Given the description of an element on the screen output the (x, y) to click on. 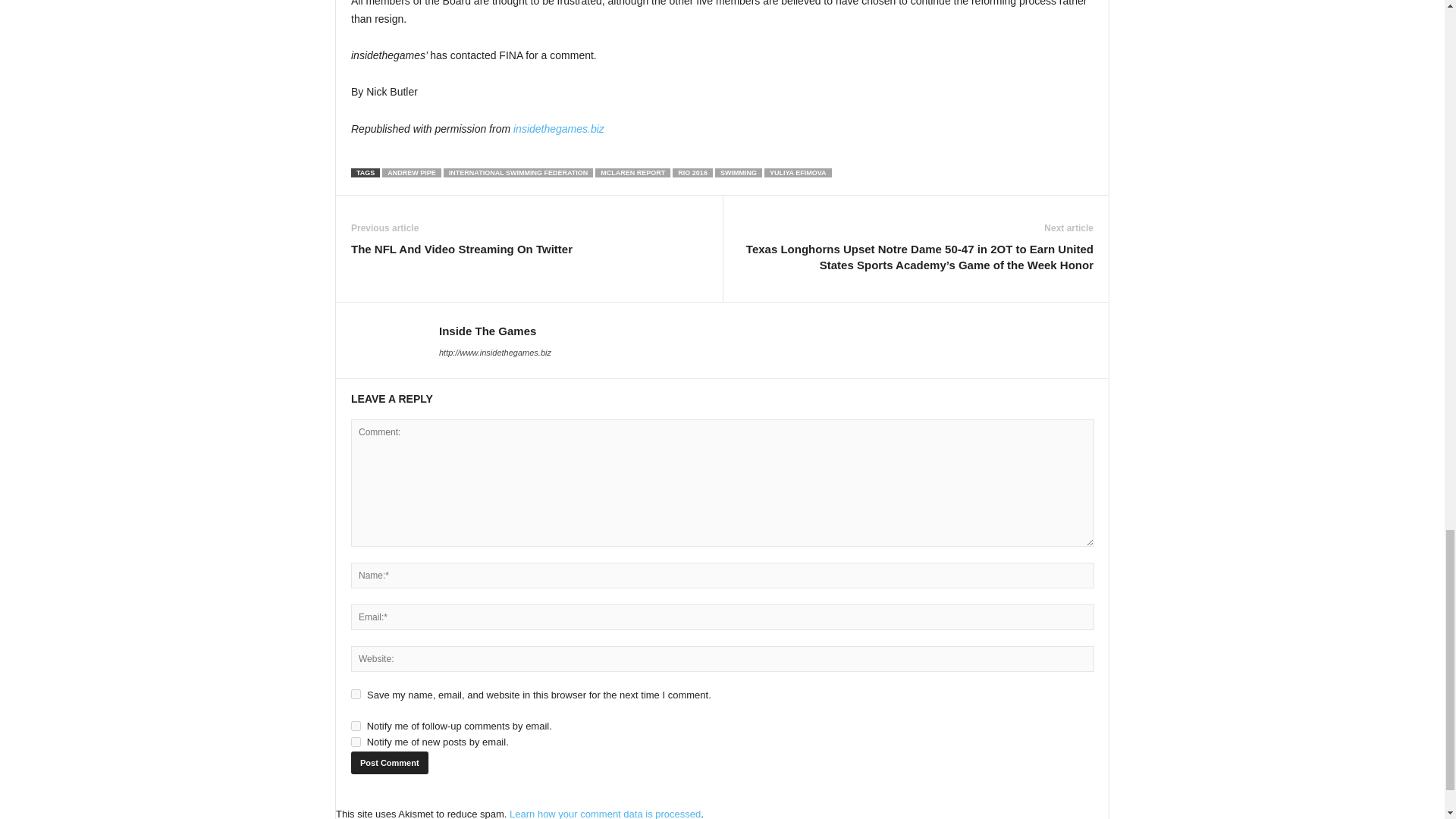
Post Comment (389, 762)
yes (355, 694)
subscribe (355, 726)
subscribe (355, 741)
